Given the description of an element on the screen output the (x, y) to click on. 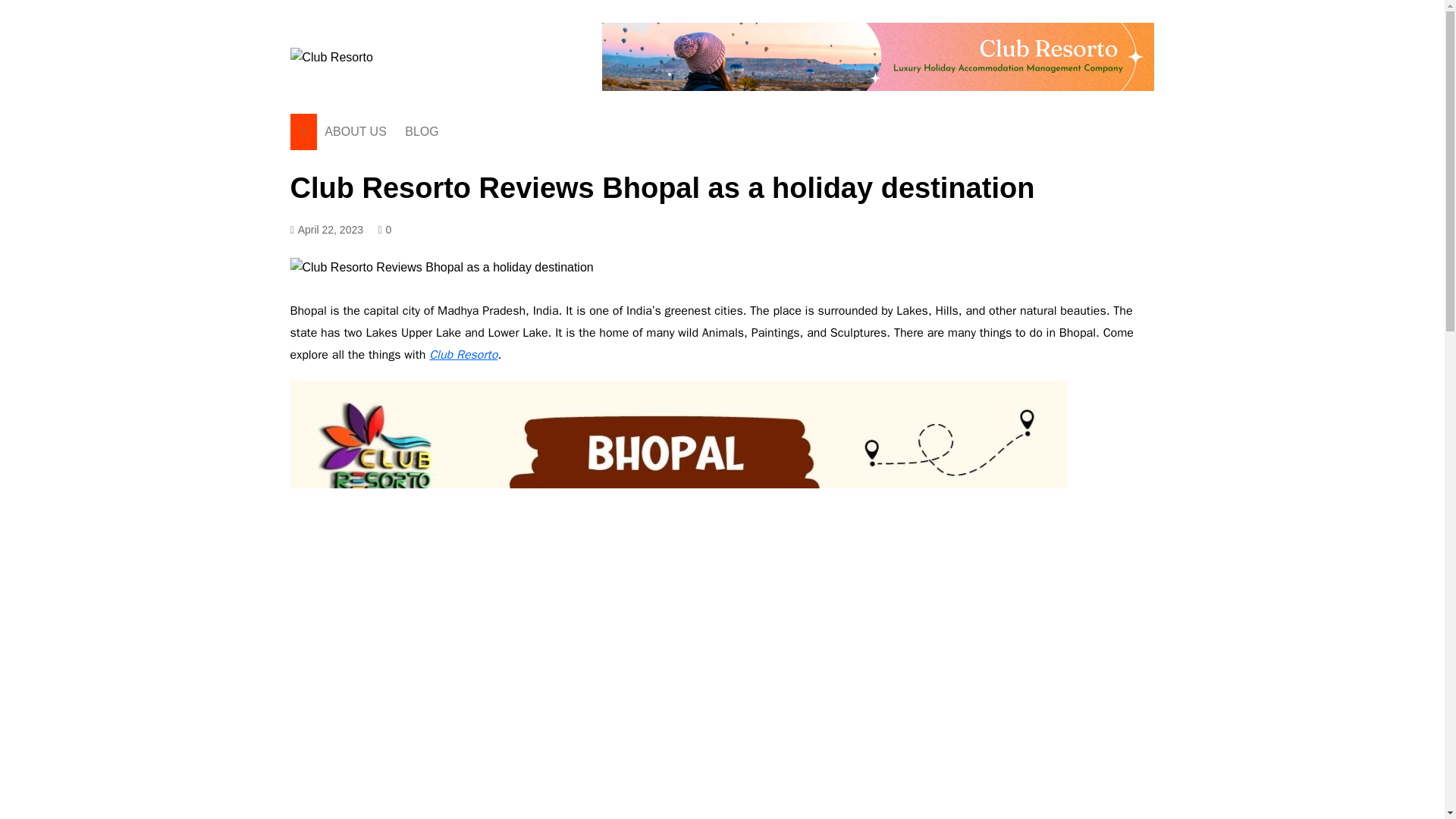
ABOUT US (355, 131)
April 22, 2023 (325, 230)
BLOG (421, 131)
Club Resorto (463, 354)
